Given the description of an element on the screen output the (x, y) to click on. 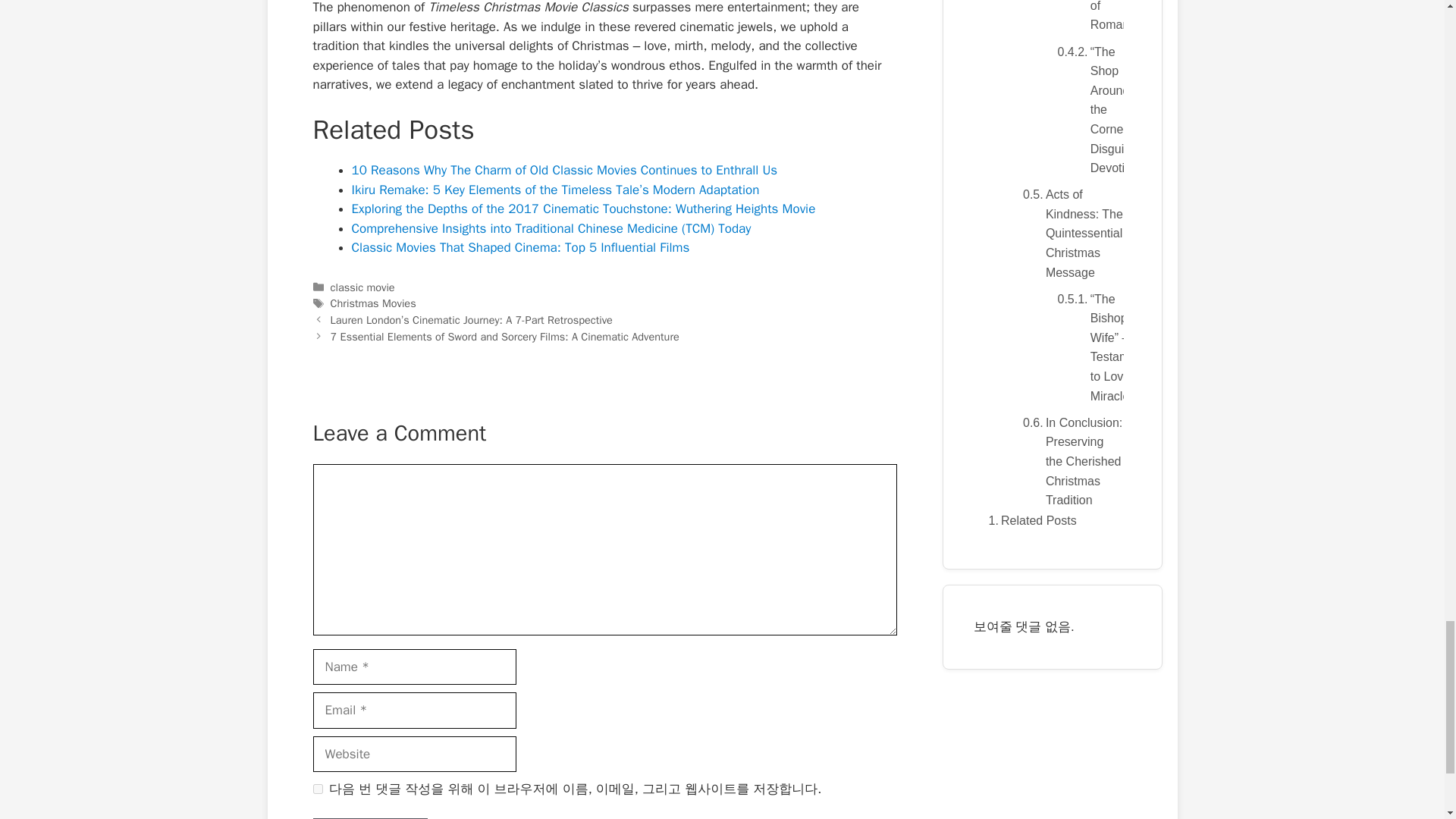
Classic Movies That Shaped Cinema: Top 5 Influential Films (521, 247)
Christmas Movies (373, 303)
yes (317, 788)
classic movie (362, 287)
